Given the description of an element on the screen output the (x, y) to click on. 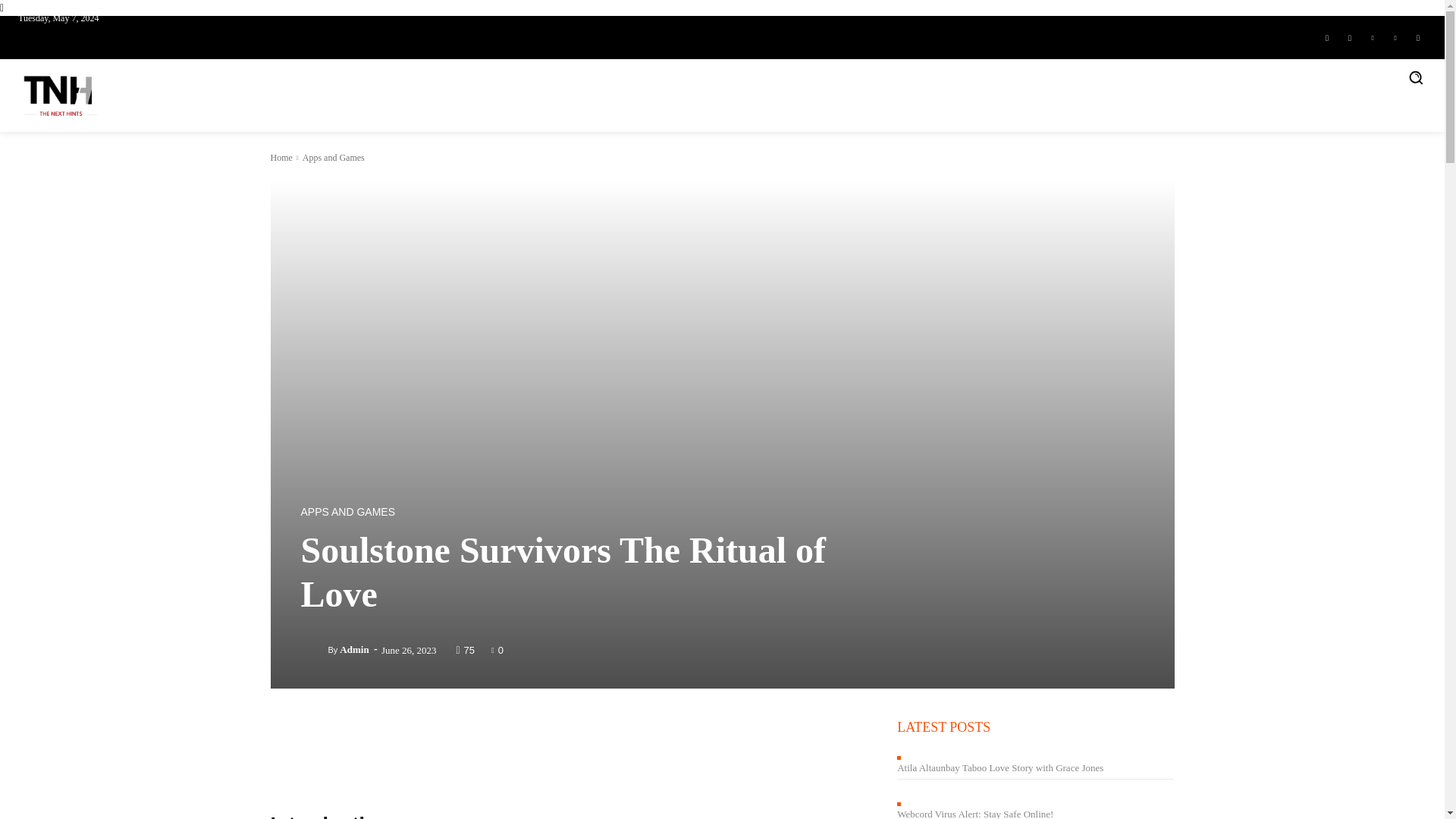
Instagram (1349, 36)
View all posts in Apps and Games (333, 157)
Twitter (1417, 36)
Admin (313, 649)
Facebook (1327, 36)
Linkedin (1372, 36)
Pinterest (1395, 36)
